Given the description of an element on the screen output the (x, y) to click on. 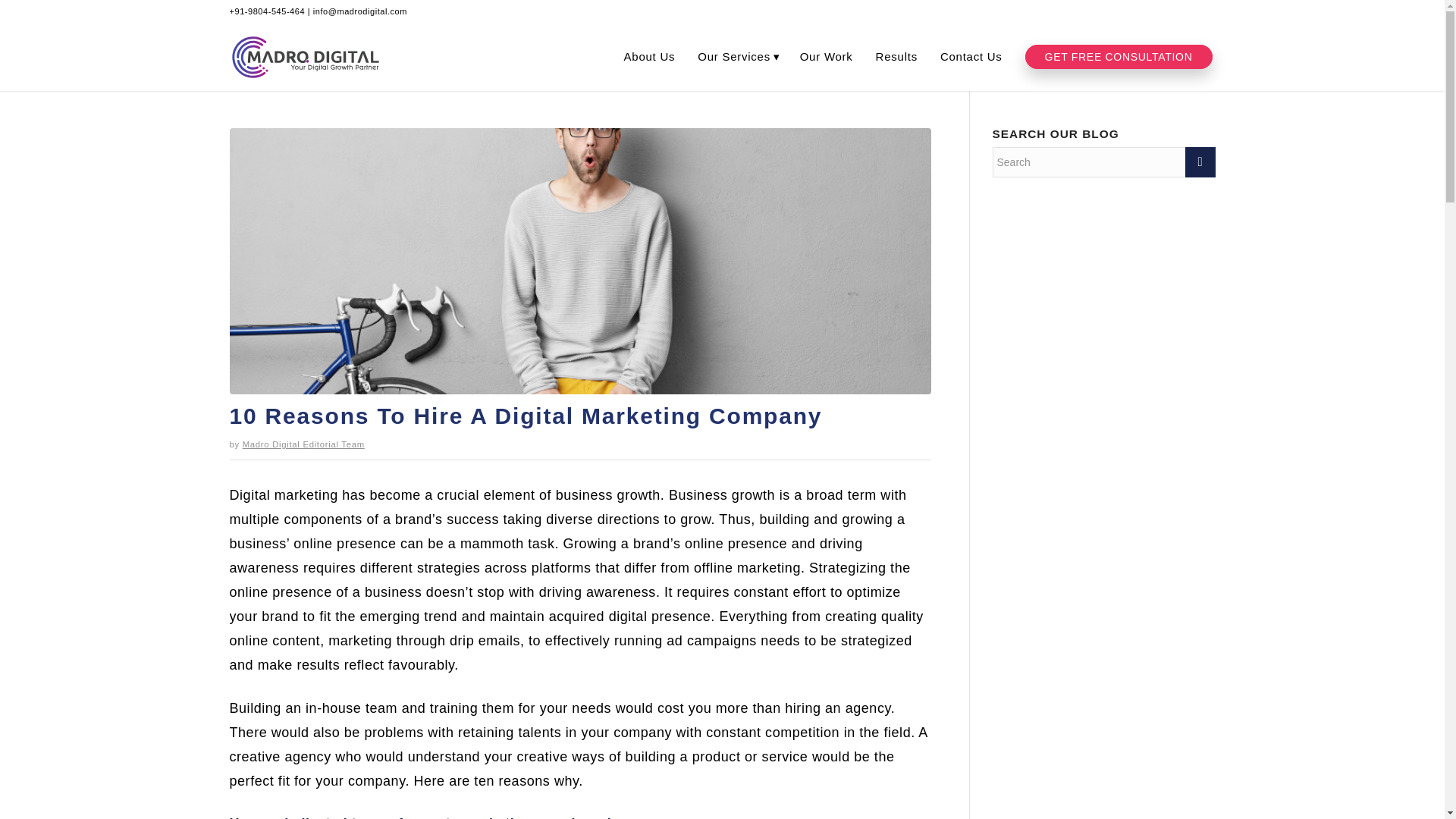
About Us (651, 56)
Posts by Madro Digital Editorial Team (304, 443)
Results (898, 56)
Our Services (738, 56)
Our Work (828, 56)
